Given the description of an element on the screen output the (x, y) to click on. 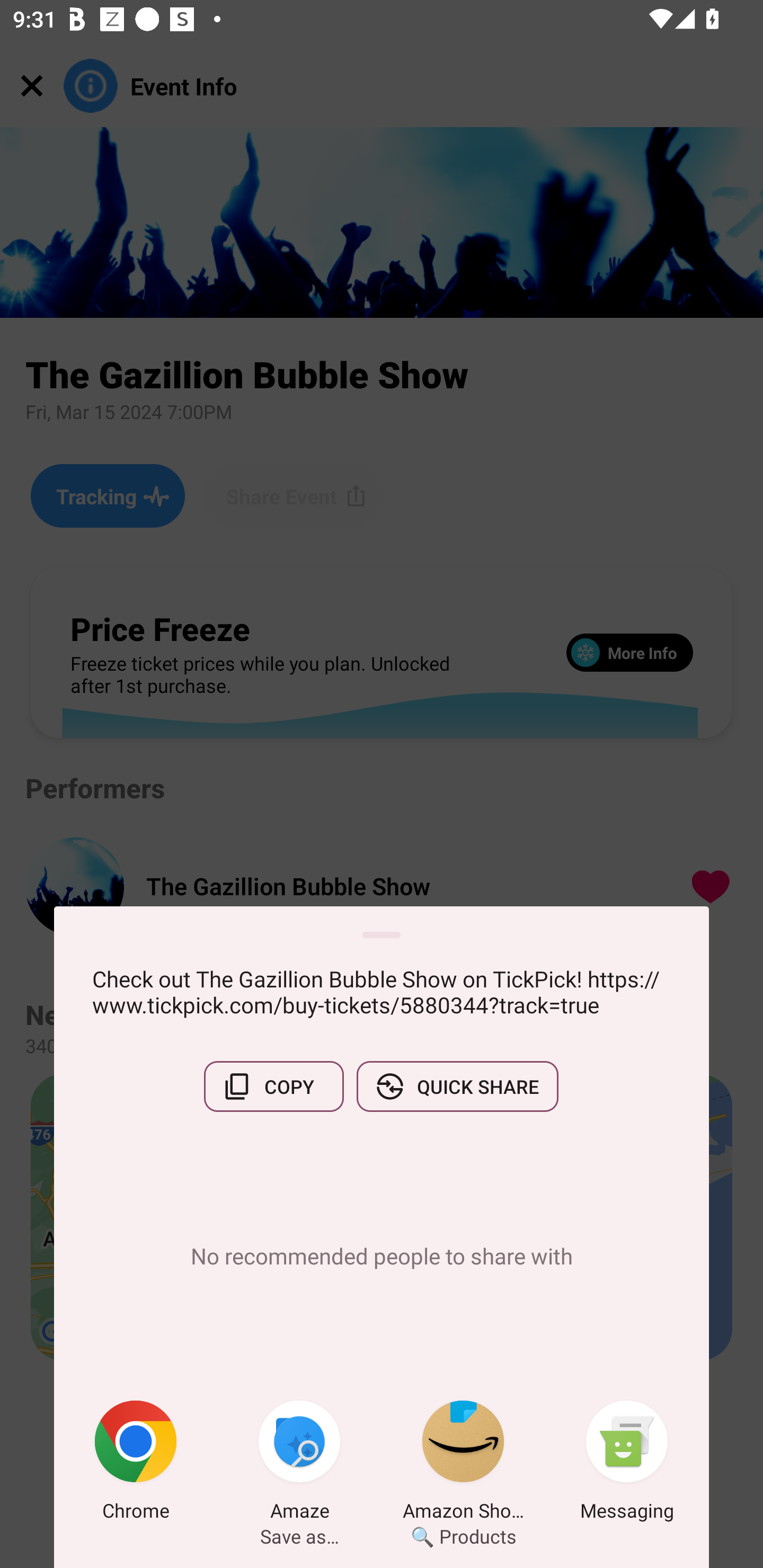
COPY (273, 1086)
QUICK SHARE (457, 1086)
Chrome (135, 1463)
Amaze Save as… (299, 1463)
Amazon Shopping 🔍 Products (463, 1463)
Messaging (626, 1463)
